Given the description of an element on the screen output the (x, y) to click on. 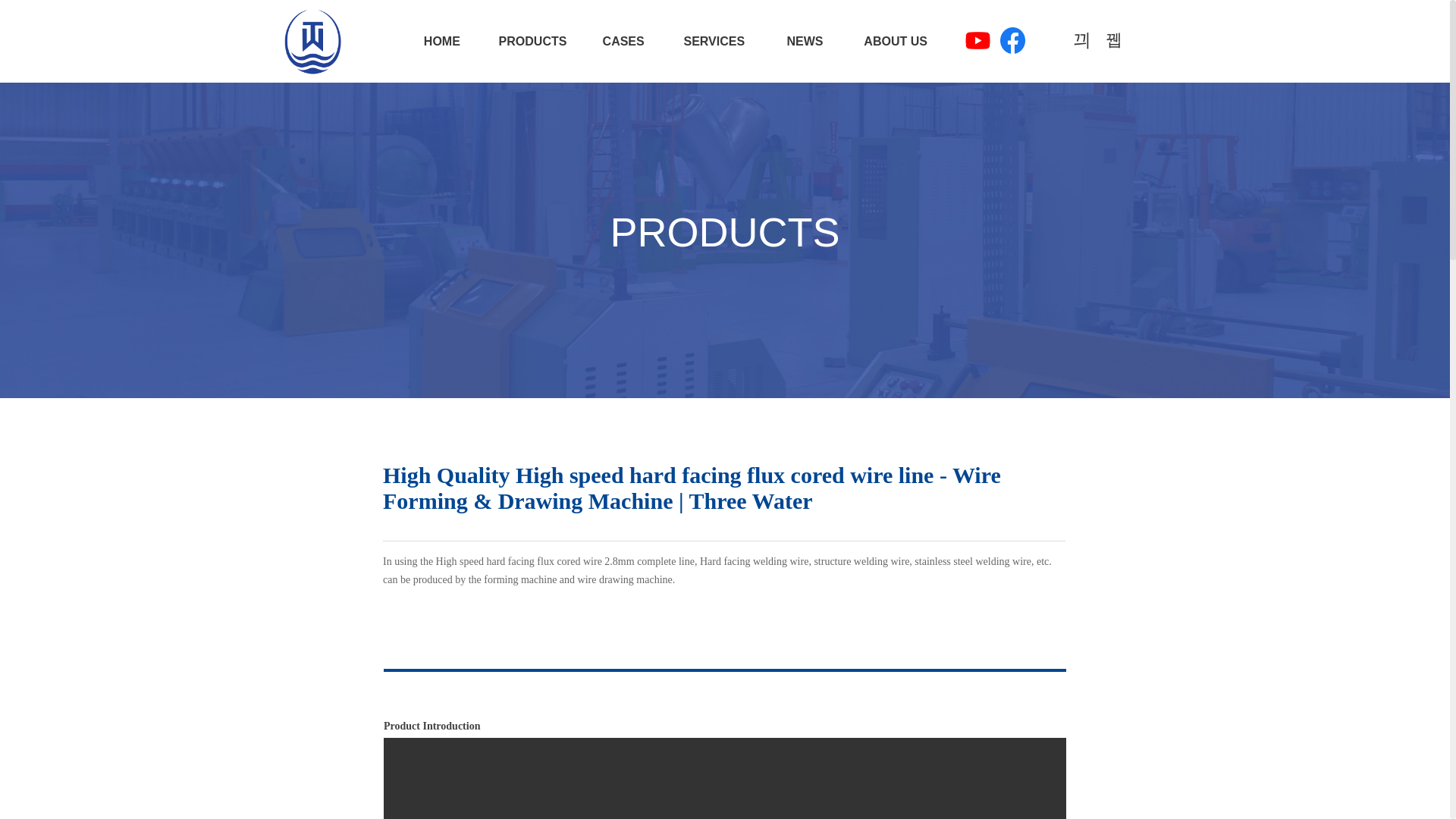
NEWS (805, 41)
HOME (441, 41)
CASES (623, 41)
ABOUT US (895, 41)
SERVICES (714, 41)
PRODUCTS (532, 41)
